Given the description of an element on the screen output the (x, y) to click on. 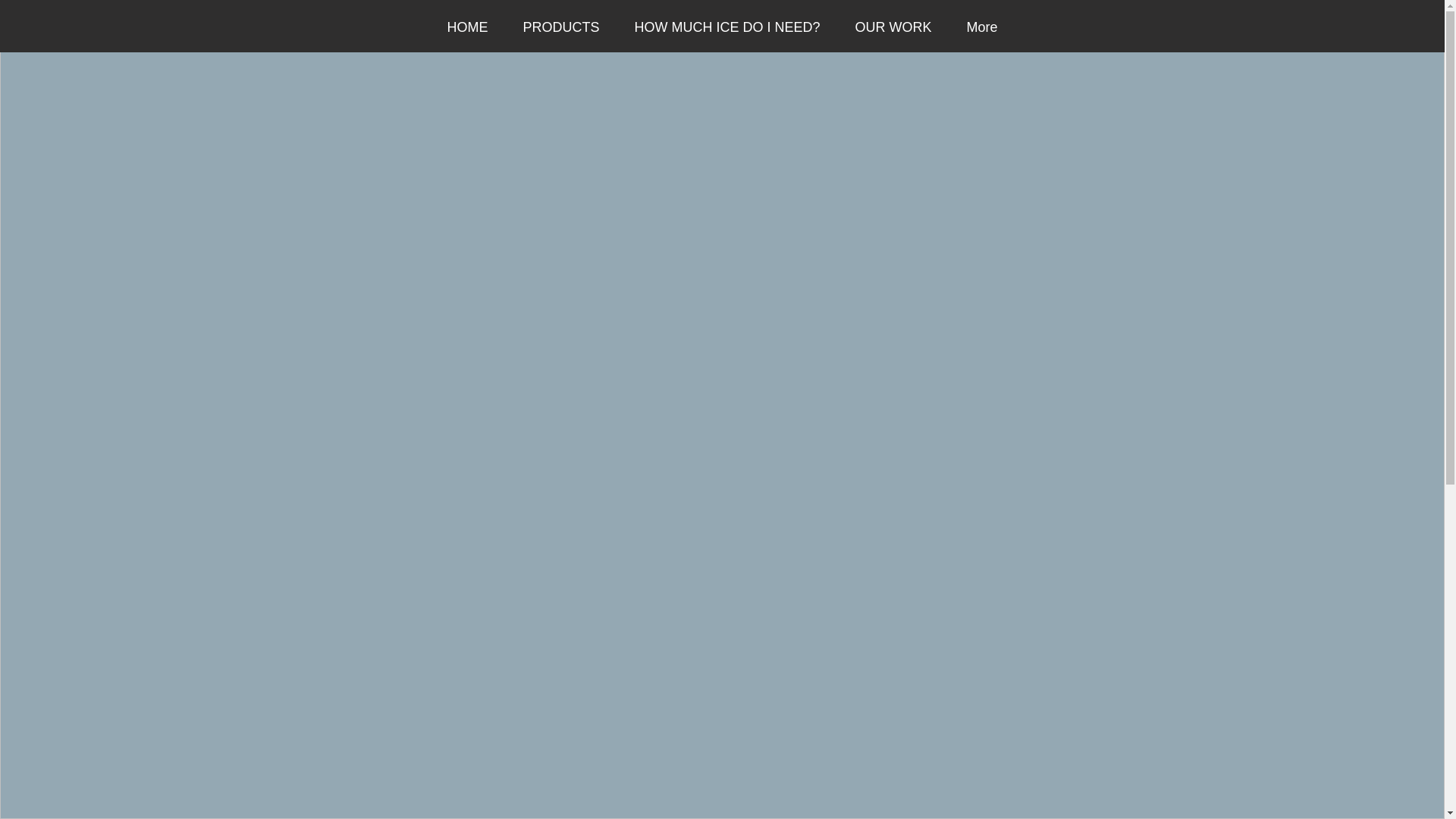
HOME (467, 26)
OUR WORK (893, 26)
HOW MUCH ICE DO I NEED? (727, 26)
PRODUCTS (560, 26)
